Given the description of an element on the screen output the (x, y) to click on. 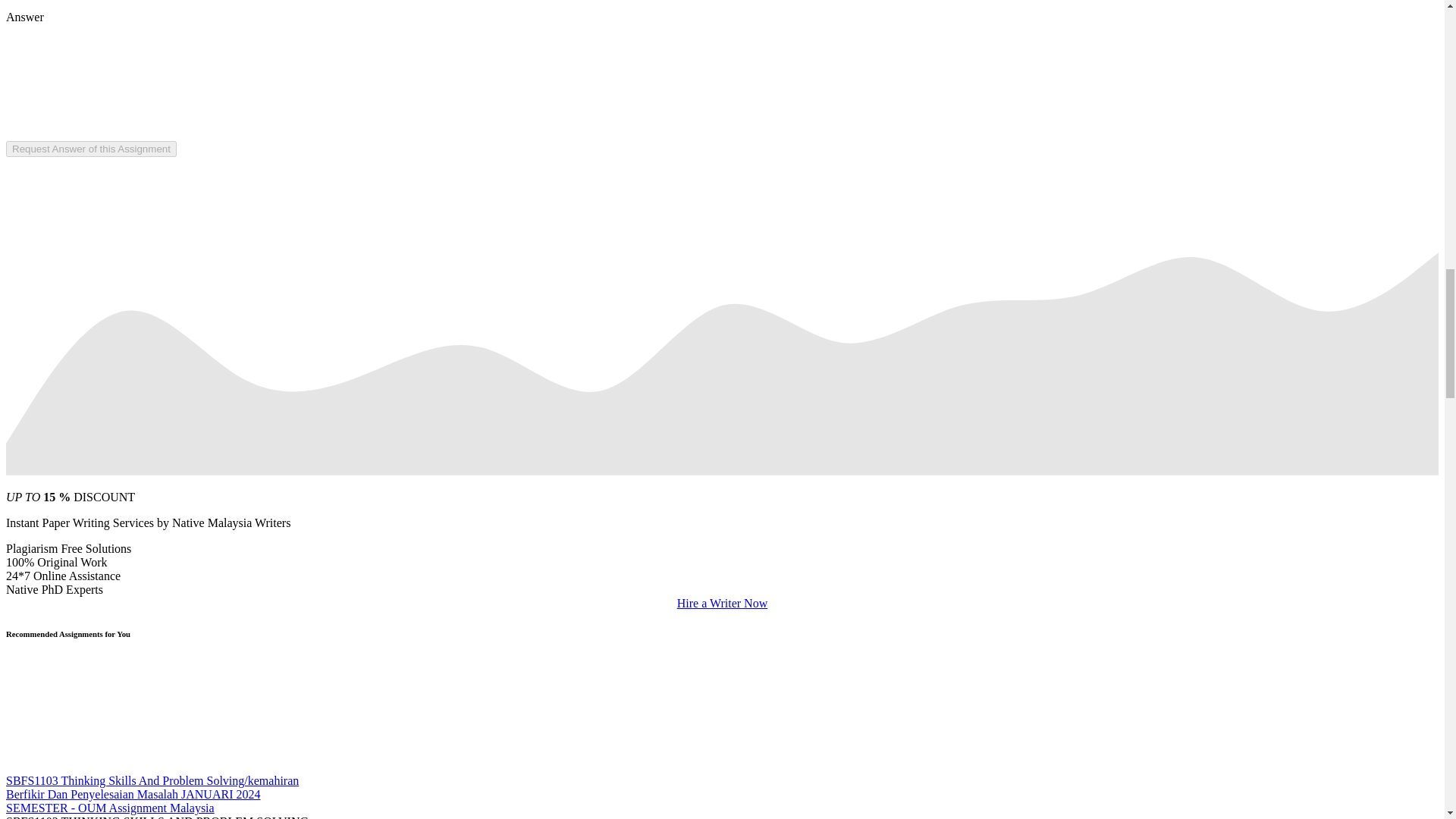
Request Answer of this Assignment (90, 148)
Request Answer of this Assignment (90, 147)
Hire a Writer Now (722, 603)
